Given the description of an element on the screen output the (x, y) to click on. 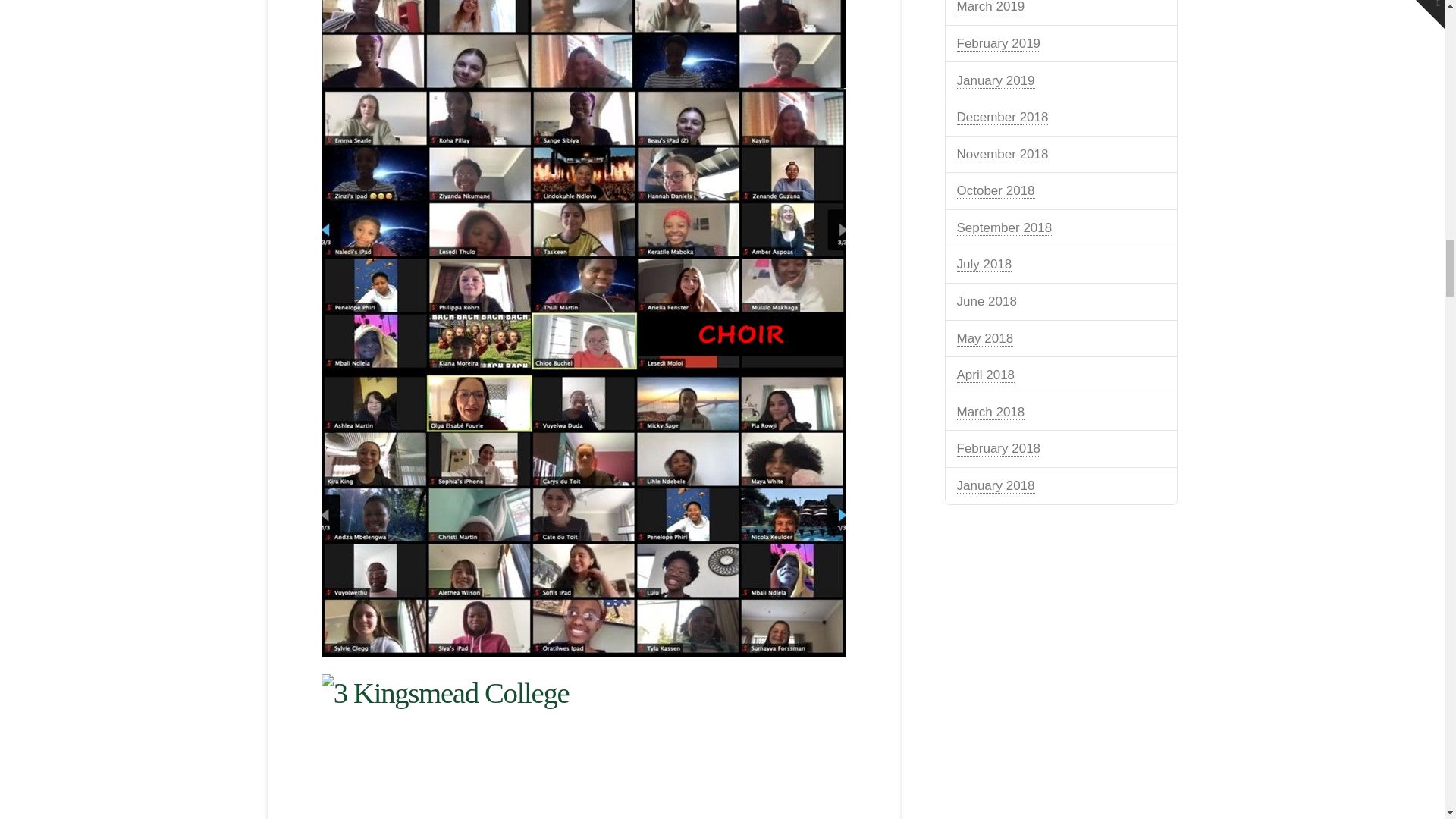
Kingsmead Newsletter July 2020 20 Kingsmead College (583, 746)
